Given the description of an element on the screen output the (x, y) to click on. 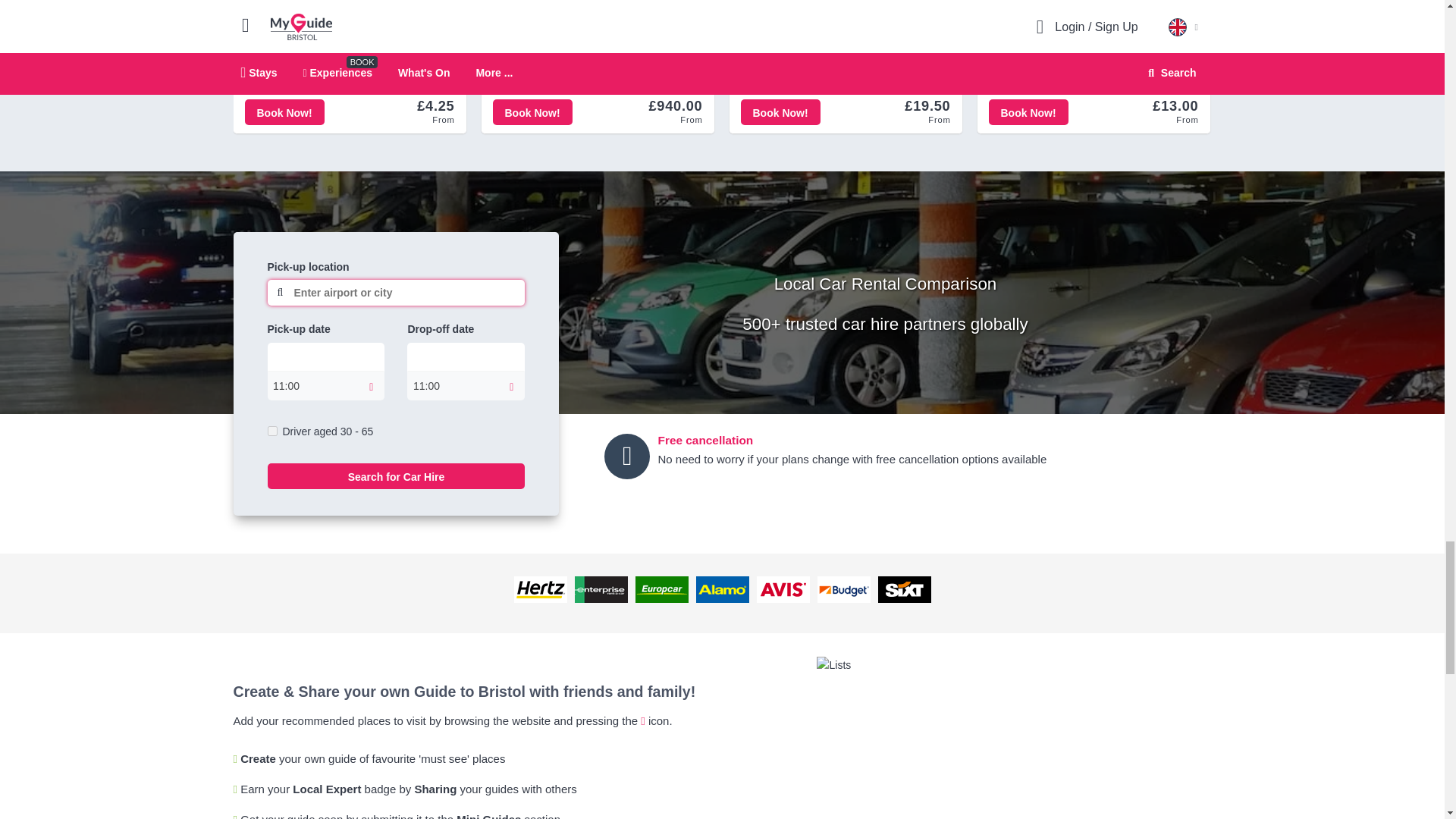
on (271, 430)
